Given the description of an element on the screen output the (x, y) to click on. 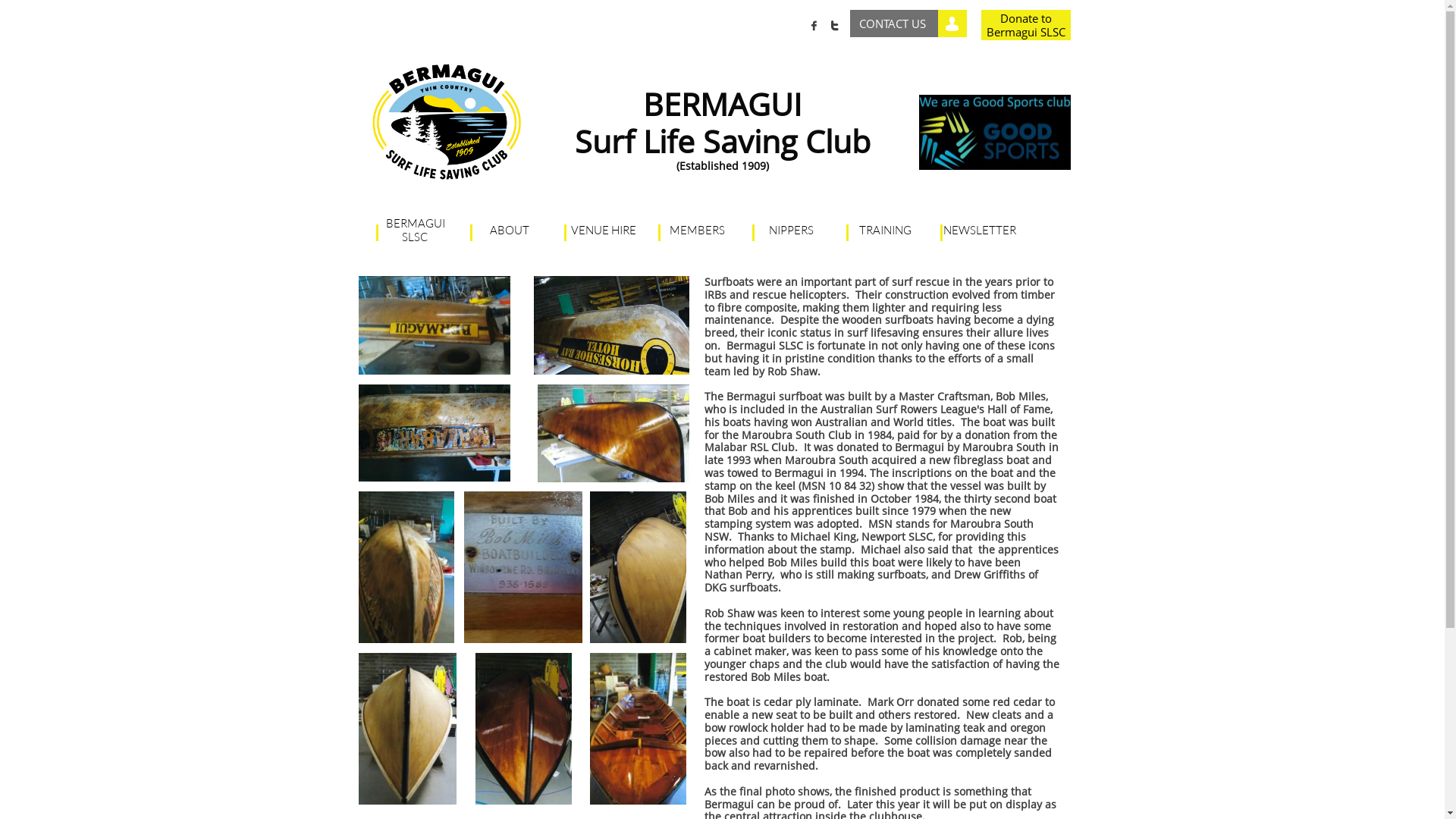
Donate to Bermagui SLSC Element type: text (1025, 24)
ABOUT Element type: text (509, 230)
NEWSLETTER Element type: text (979, 230)
MEMBERS Element type: text (697, 230)
BERMAGUI SLSC Element type: text (415, 230)
TRAINING Element type: text (885, 230)
VENUE HIRE Element type: text (603, 230)
NIPPERS Element type: text (791, 230)
